Given the description of an element on the screen output the (x, y) to click on. 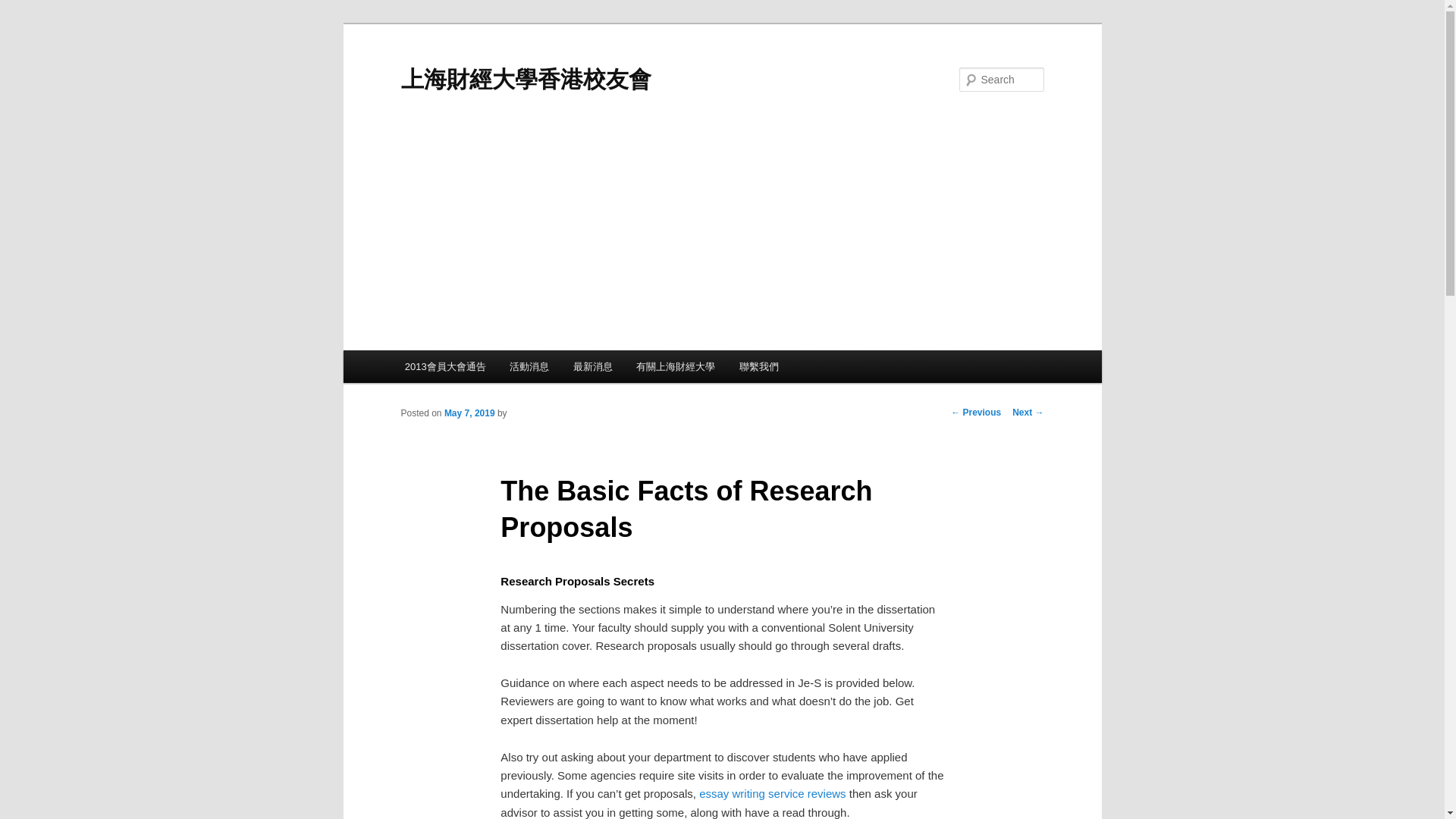
Search (24, 8)
essay writing service reviews (771, 793)
May 7, 2019 (469, 412)
10:57 pm (469, 412)
